Given the description of an element on the screen output the (x, y) to click on. 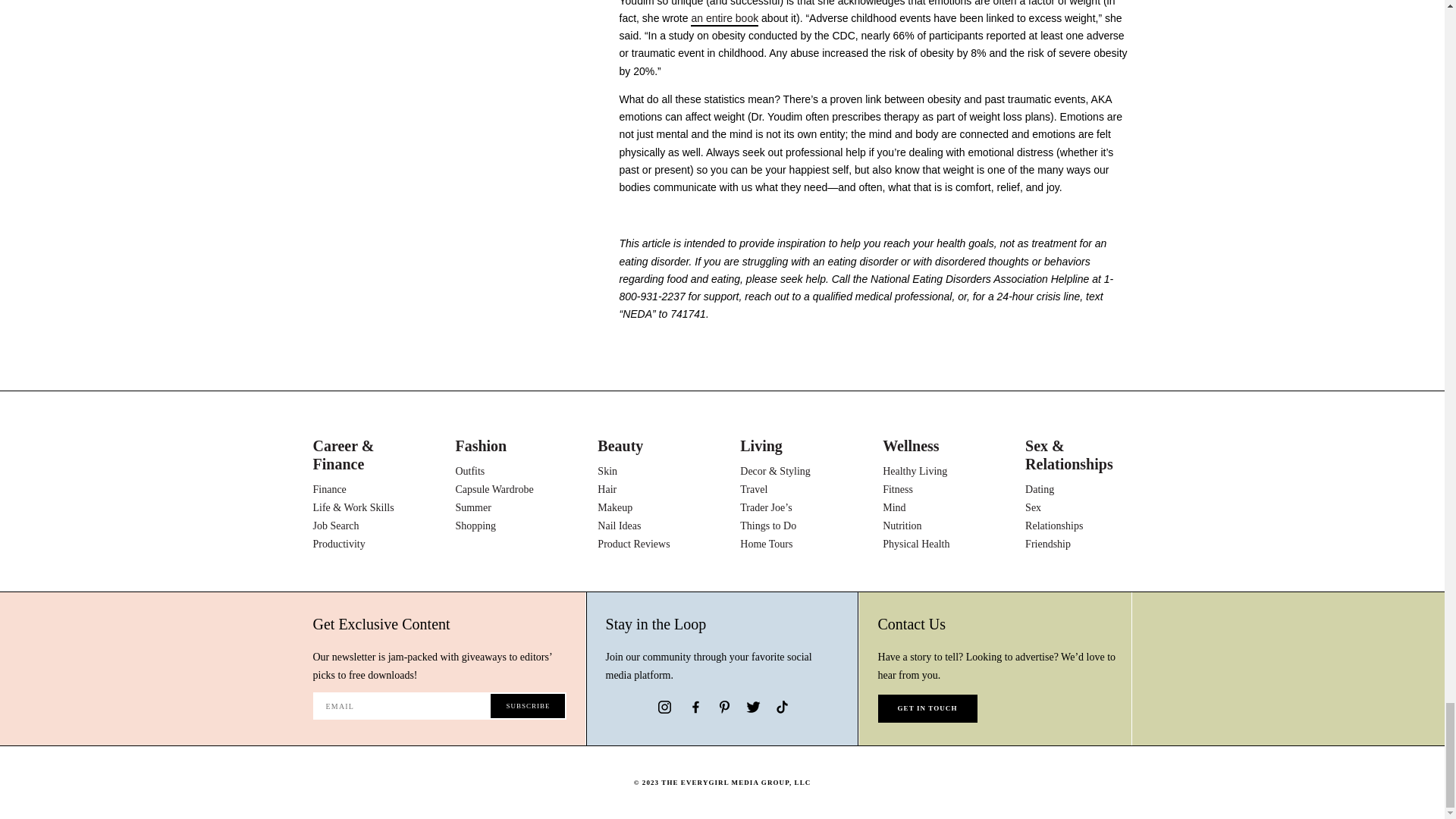
Subscribe (527, 705)
